Given the description of an element on the screen output the (x, y) to click on. 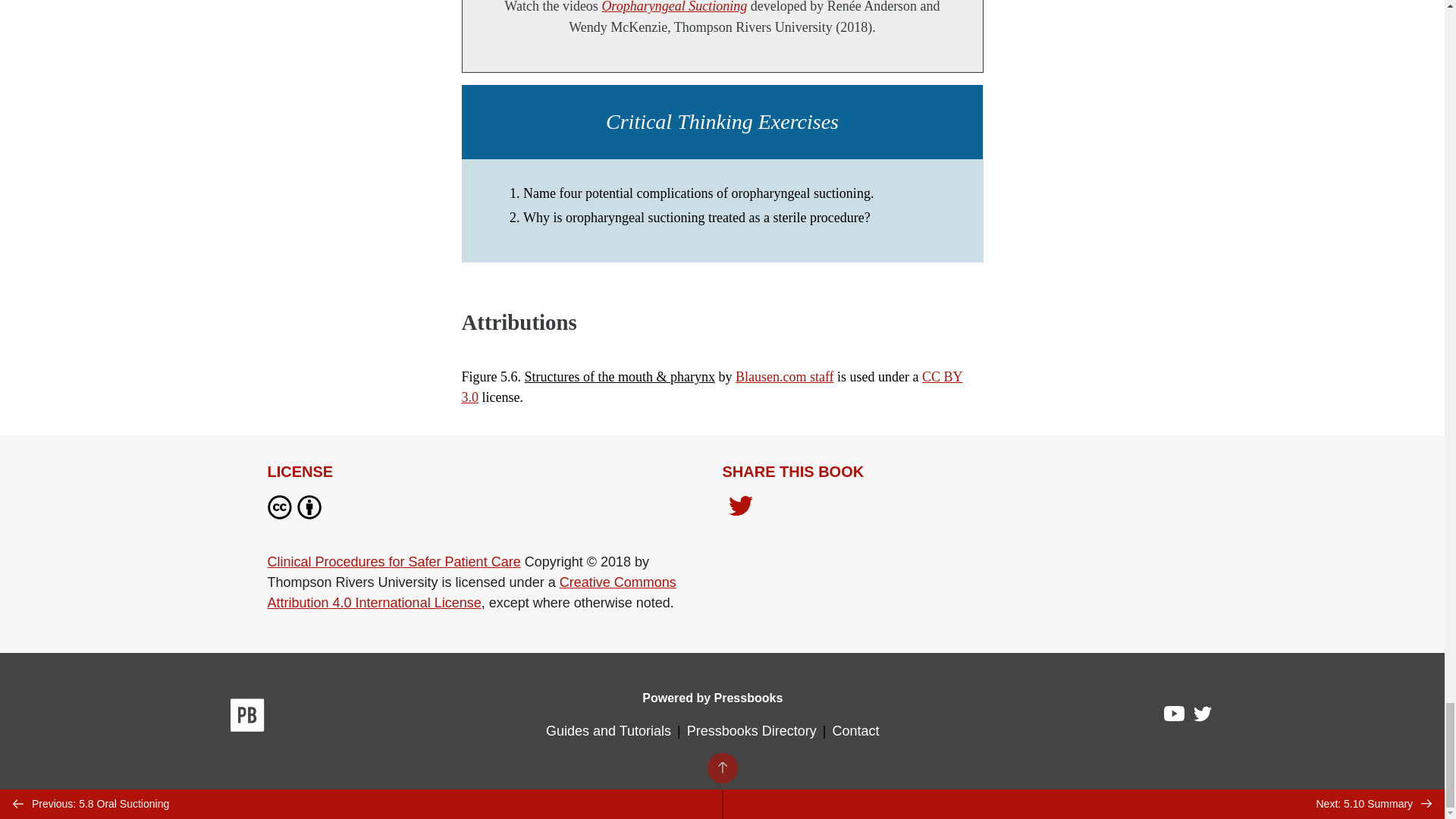
Share on Twitter (740, 509)
Pressbooks on YouTube (1174, 716)
Contact (856, 730)
Oropharyngeal Suctioning (673, 6)
Pressbooks Directory (751, 730)
Creative Commons Attribution 4.0 International License (470, 592)
Share on Twitter (740, 507)
Powered by Pressbooks (712, 697)
Clinical Procedures for Safer Patient Care (392, 561)
Guides and Tutorials (608, 730)
CC BY 3.0 (711, 386)
Blausen.com staff (784, 376)
